Given the description of an element on the screen output the (x, y) to click on. 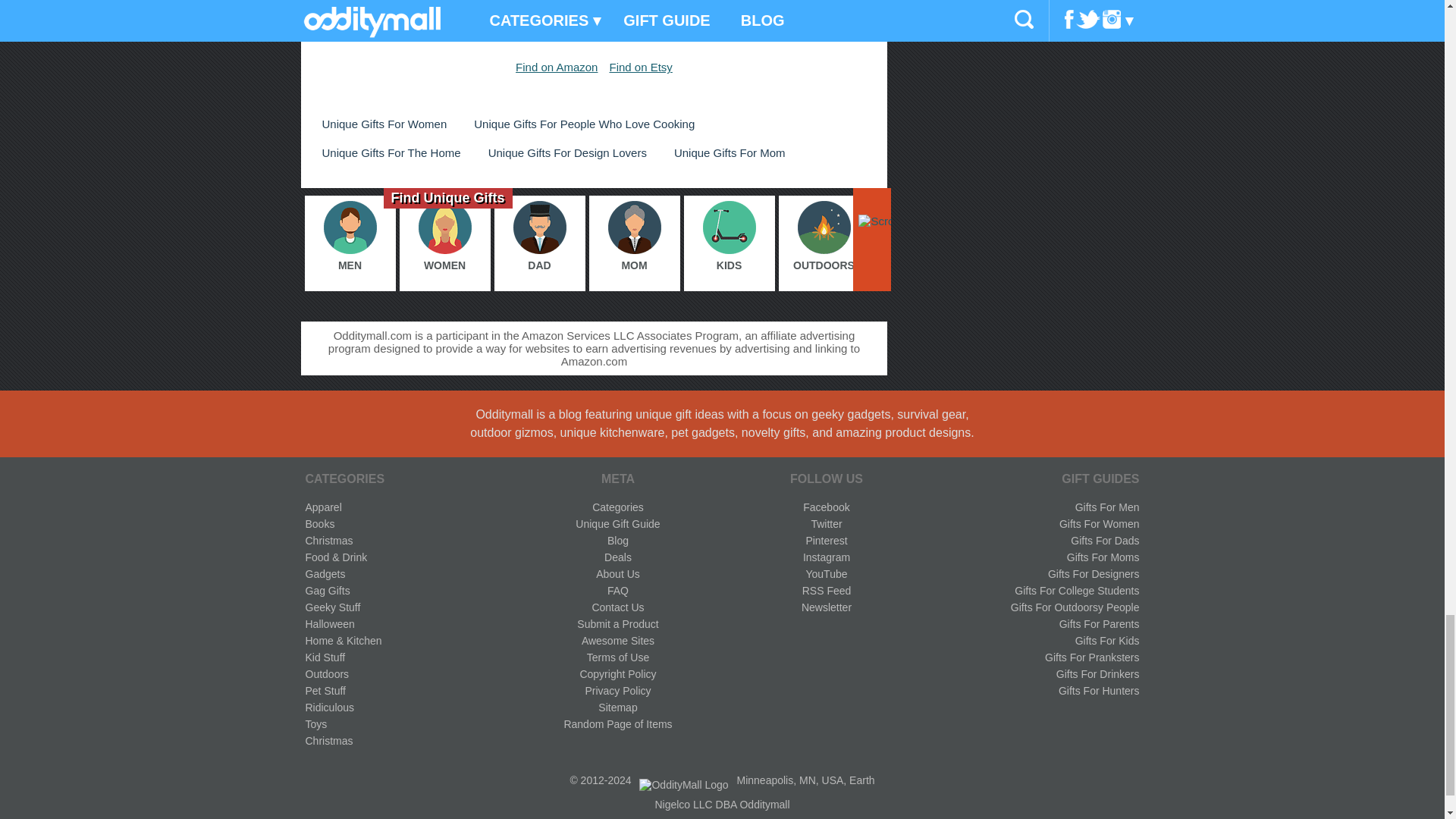
Find on Etsy (639, 66)
Unique Gifts For People Who Love Cooking (583, 123)
Unique Gifts For Women (383, 123)
Unique Gifts For Mom (730, 152)
Unique Gifts For Mom (730, 152)
Unique Gifts For Design Lovers (566, 152)
Unique Gifts For The Home (390, 152)
Check Today's Price (593, 11)
Unique Gifts For Women (383, 123)
Unique Gifts For Design Lovers (566, 152)
